Given the description of an element on the screen output the (x, y) to click on. 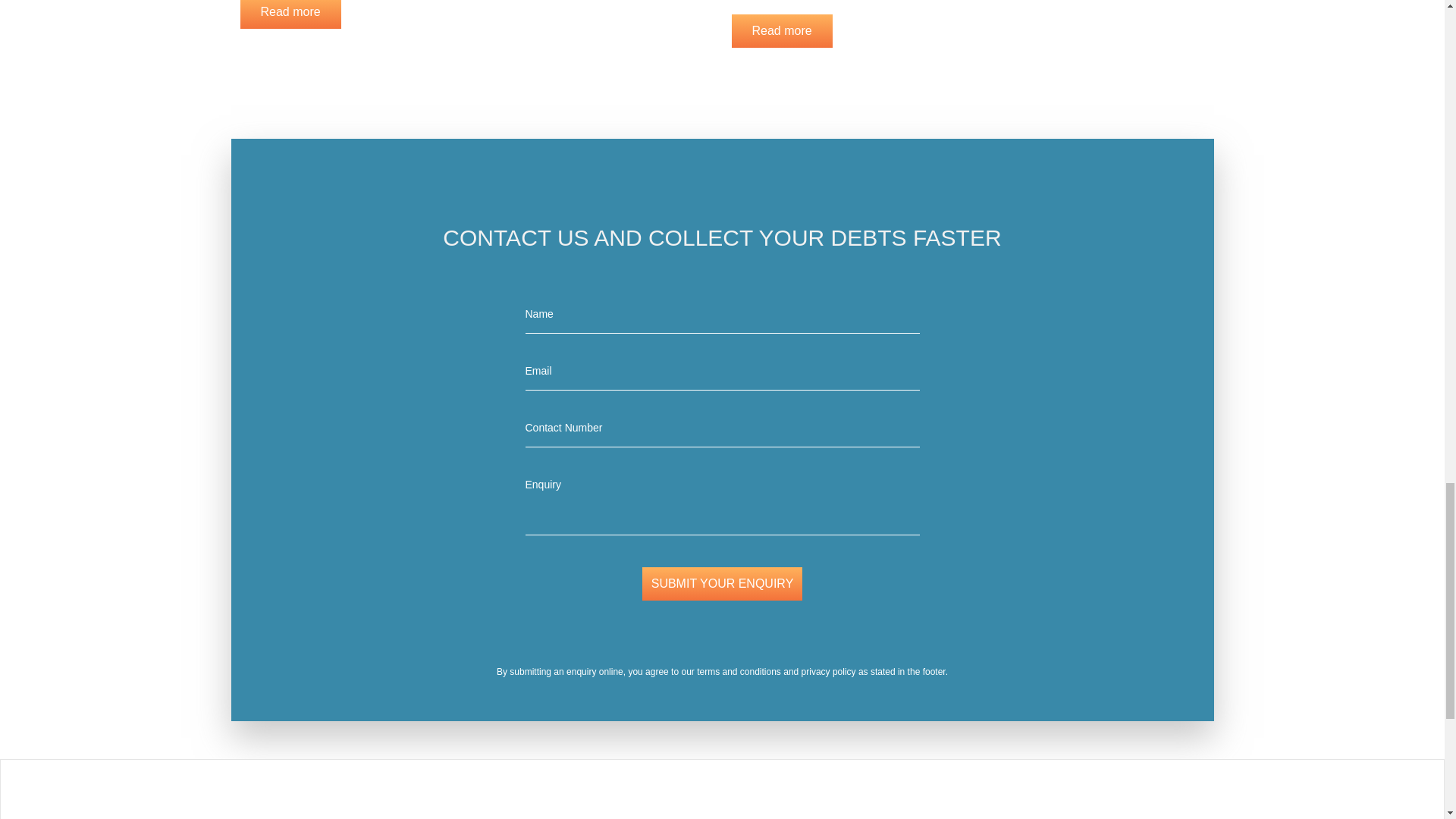
Read more (780, 30)
Read more (290, 14)
Submit your Enquiry (722, 583)
Submit your Enquiry (722, 583)
